Given the description of an element on the screen output the (x, y) to click on. 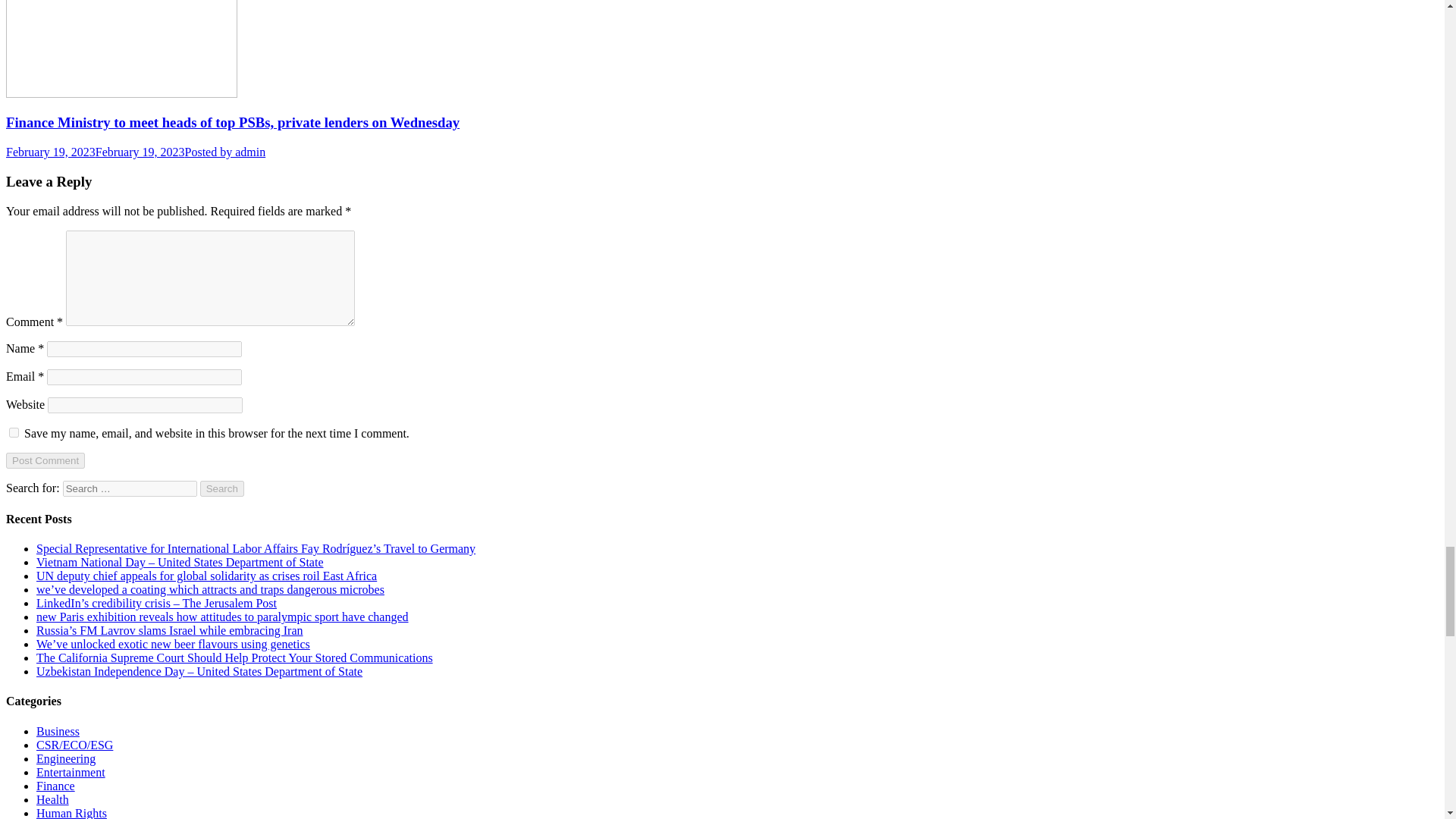
Search (222, 488)
Post Comment (44, 460)
Search (222, 488)
yes (13, 432)
